Given the description of an element on the screen output the (x, y) to click on. 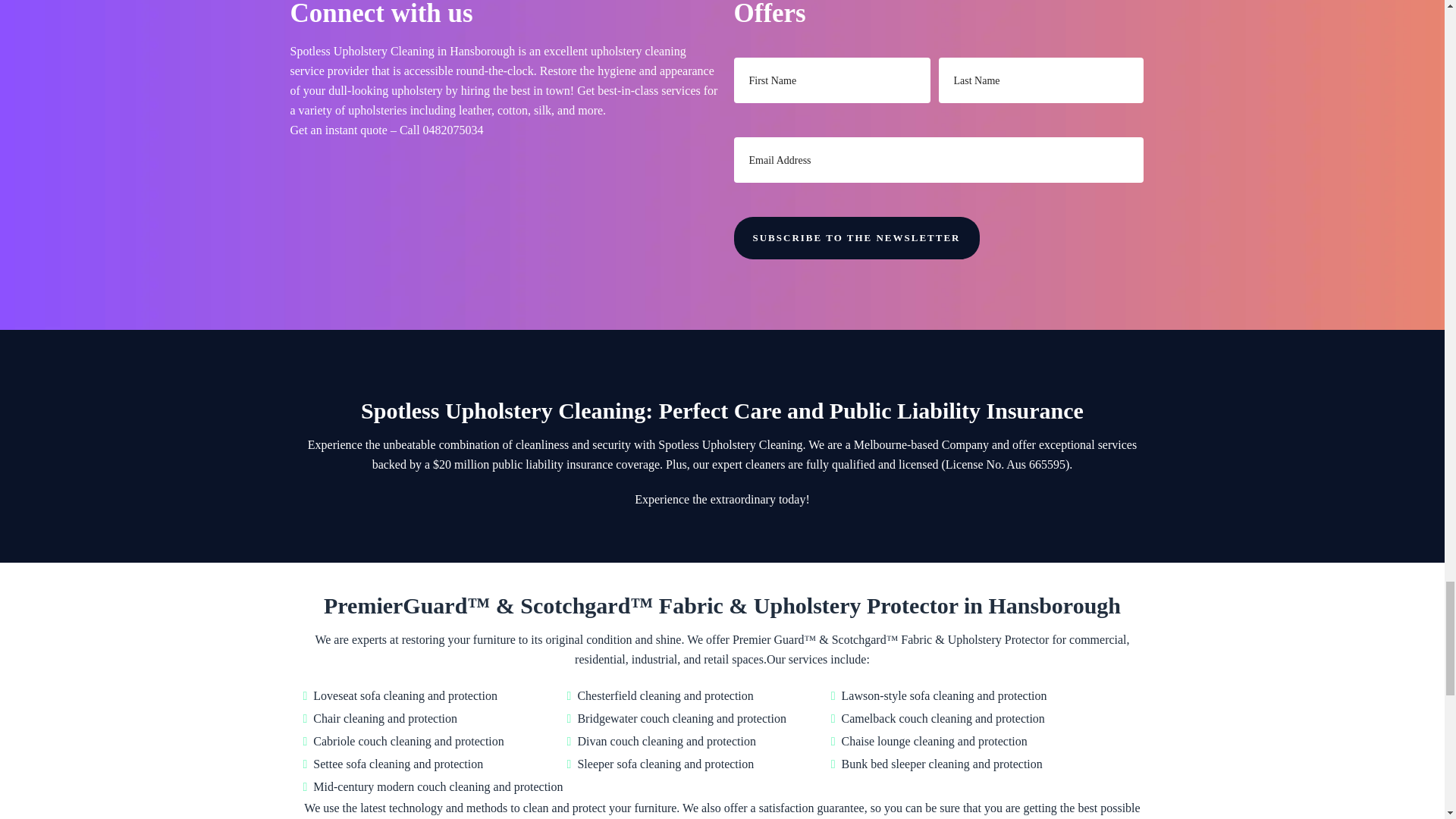
SUBSCRIBE TO THE NEWSLETTER (856, 238)
